Given the description of an element on the screen output the (x, y) to click on. 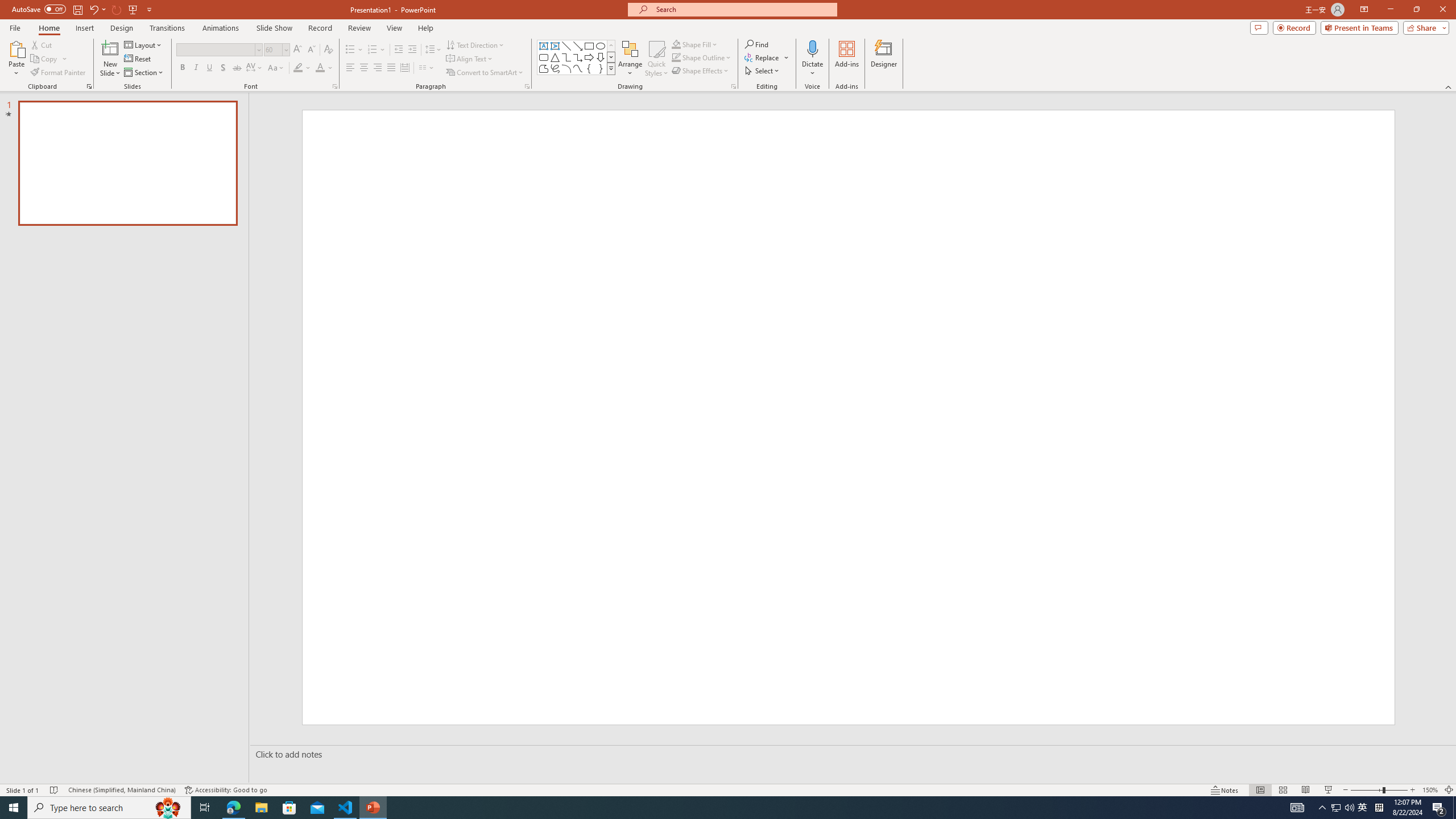
Zoom 150% (1430, 790)
